Given the description of an element on the screen output the (x, y) to click on. 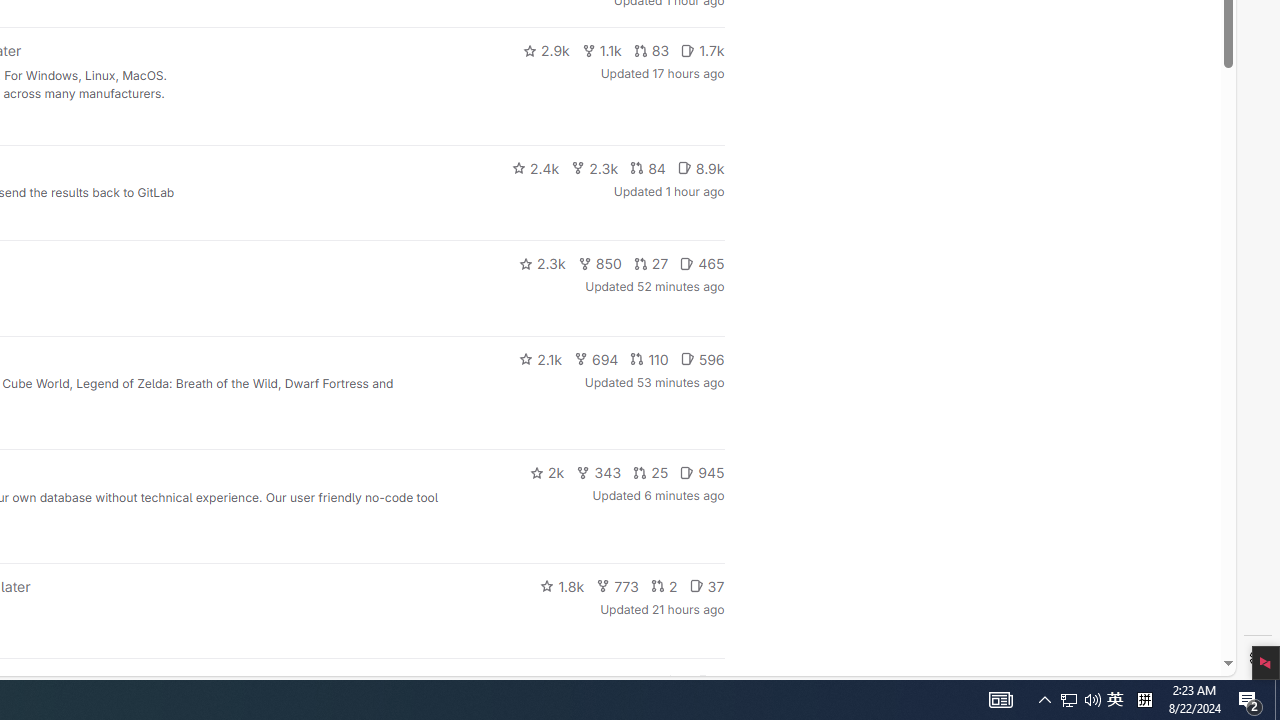
83 (651, 50)
25 (651, 472)
2k (546, 472)
1.8k (562, 585)
2 (664, 585)
37 (706, 585)
8.9k (700, 167)
1.7k (702, 50)
2.3k (541, 263)
27 (651, 263)
2.9k (545, 50)
850 (599, 263)
Class: s14 gl-mr-2 (704, 681)
596 (701, 358)
